Given the description of an element on the screen output the (x, y) to click on. 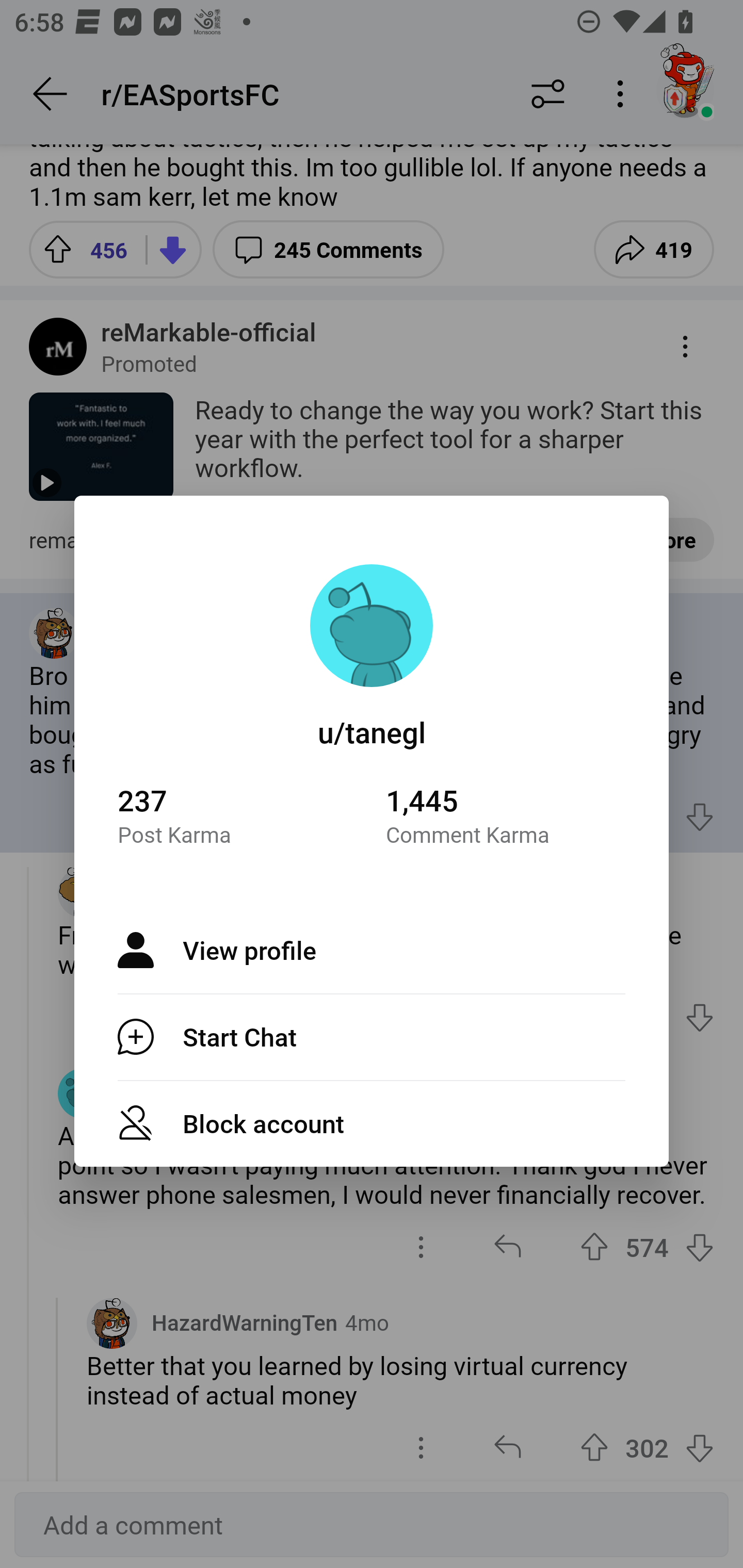
u/tanegl (371, 731)
Reply (462, 816)
View profile (371, 950)
Start Chat (371, 1037)
Block account (371, 1123)
